Given the description of an element on the screen output the (x, y) to click on. 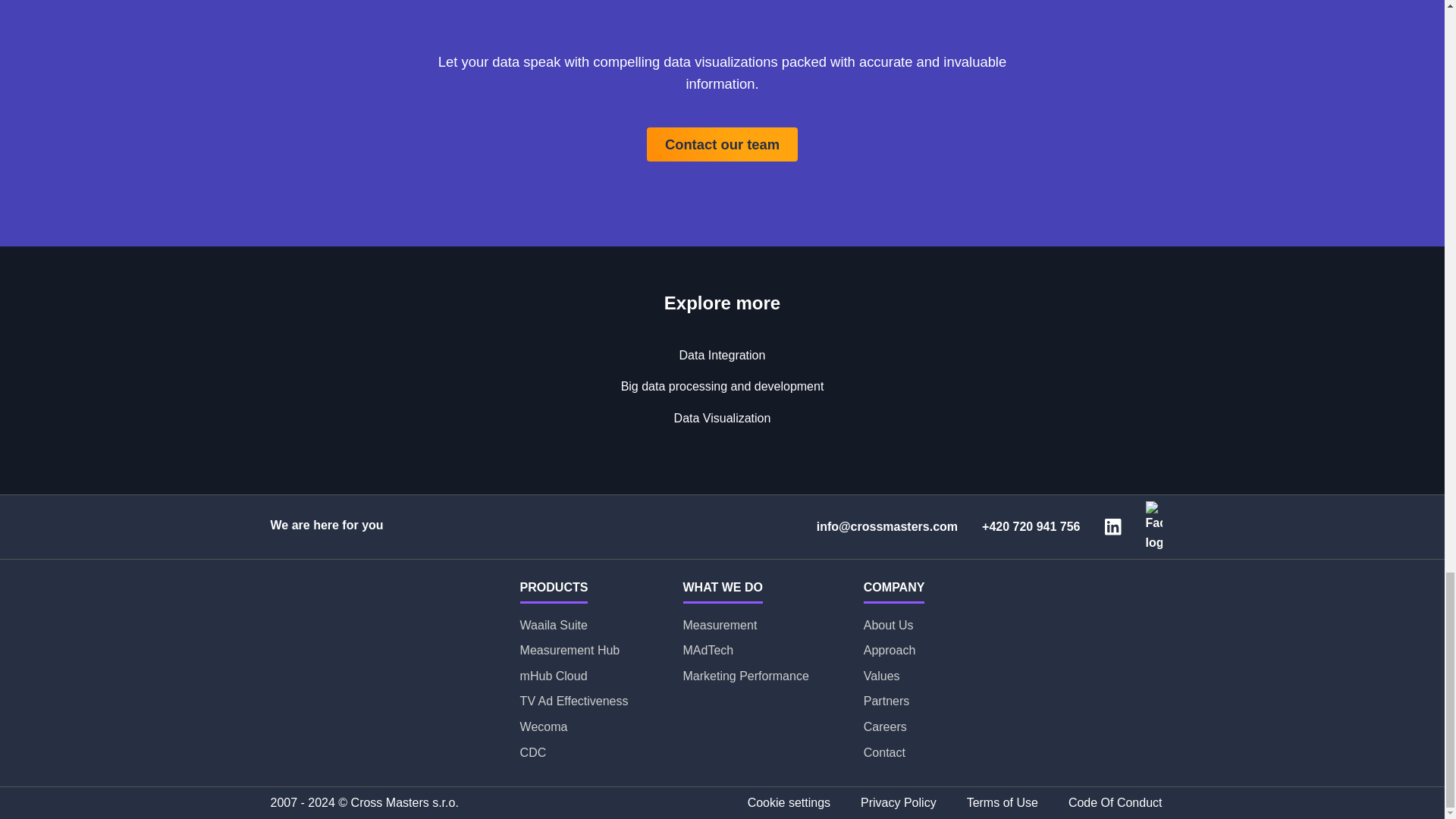
Contact our team (721, 144)
Approach (893, 650)
Waaila Suite (573, 625)
Big data processing and development (722, 386)
About Us (893, 625)
Data Visualization (722, 418)
Marketing Performance (745, 676)
Values (893, 676)
Measurement Hub (573, 650)
CDC (573, 752)
